Given the description of an element on the screen output the (x, y) to click on. 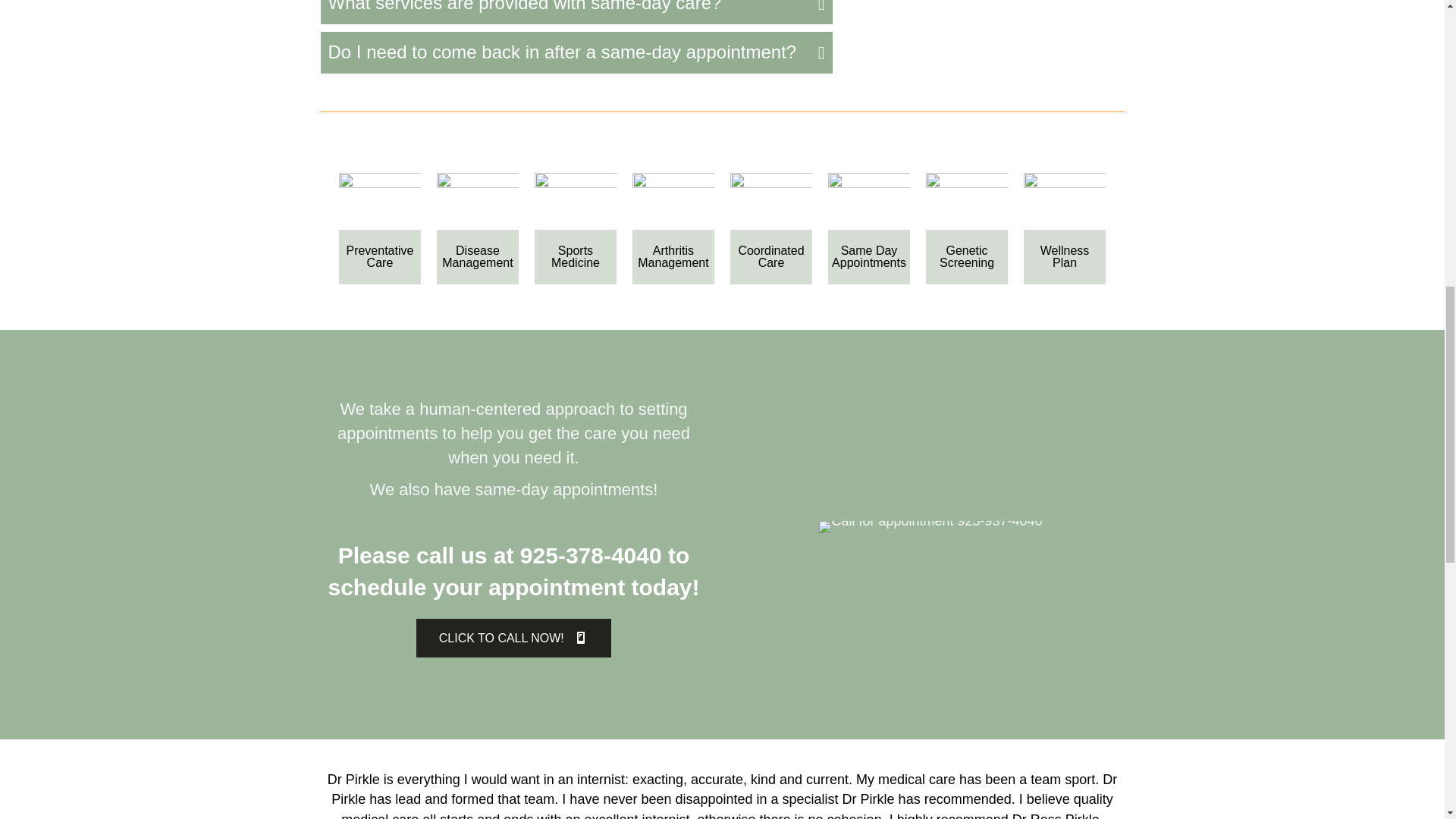
Acute and Chronic Disease Management (477, 201)
Same Day Appointments (869, 201)
Wellness Plan (1064, 201)
prevention (380, 201)
CLICK TO CALL NOW! (513, 638)
Arthritis Management (672, 201)
Coordinated Care (771, 201)
Genetic Screening (967, 201)
